Given the description of an element on the screen output the (x, y) to click on. 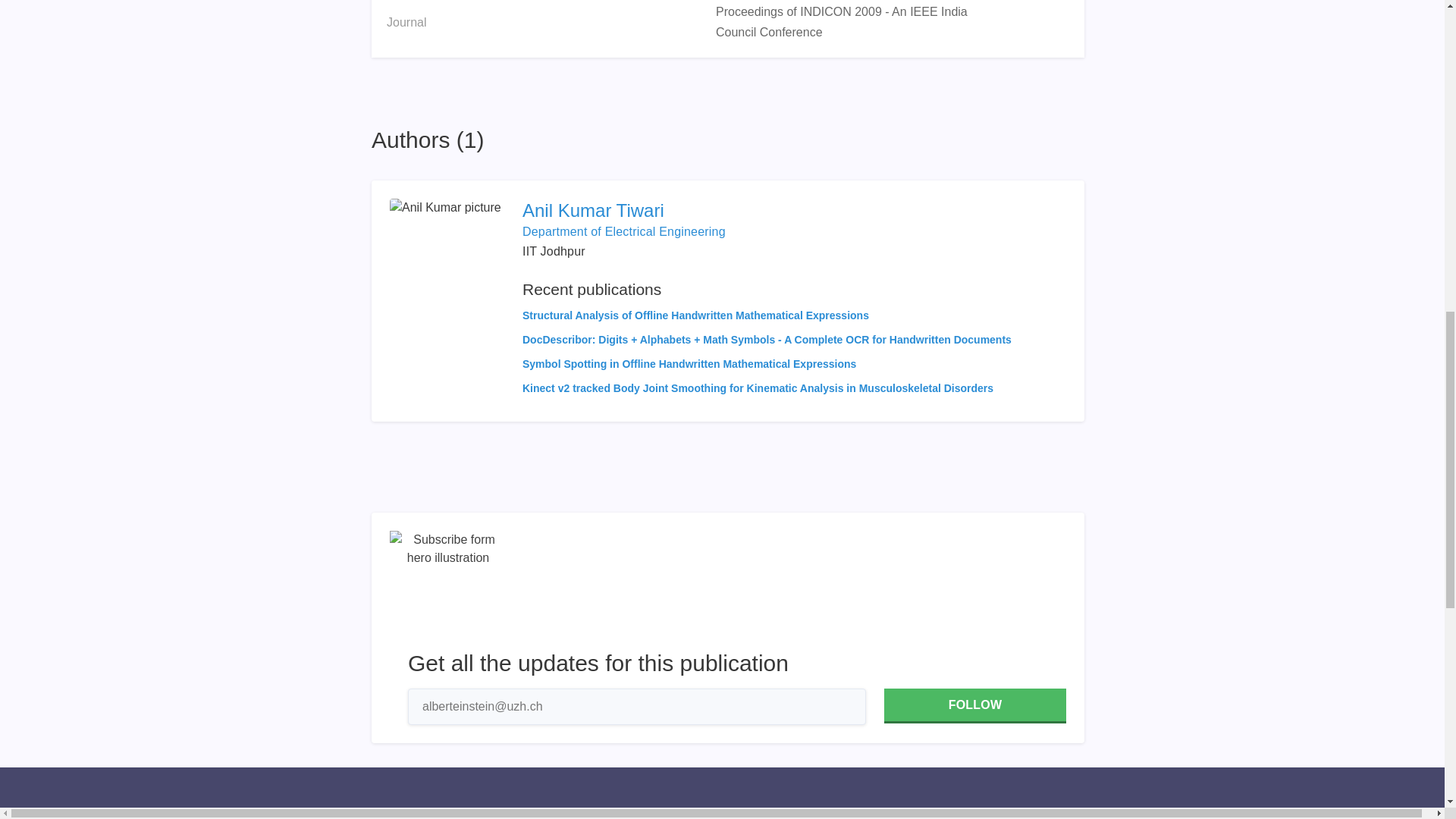
Subscribe form hero illustration (448, 588)
Anil Kumar Tiwari (766, 210)
FOLLOW (974, 705)
Department of Electrical Engineering (623, 231)
